Given the description of an element on the screen output the (x, y) to click on. 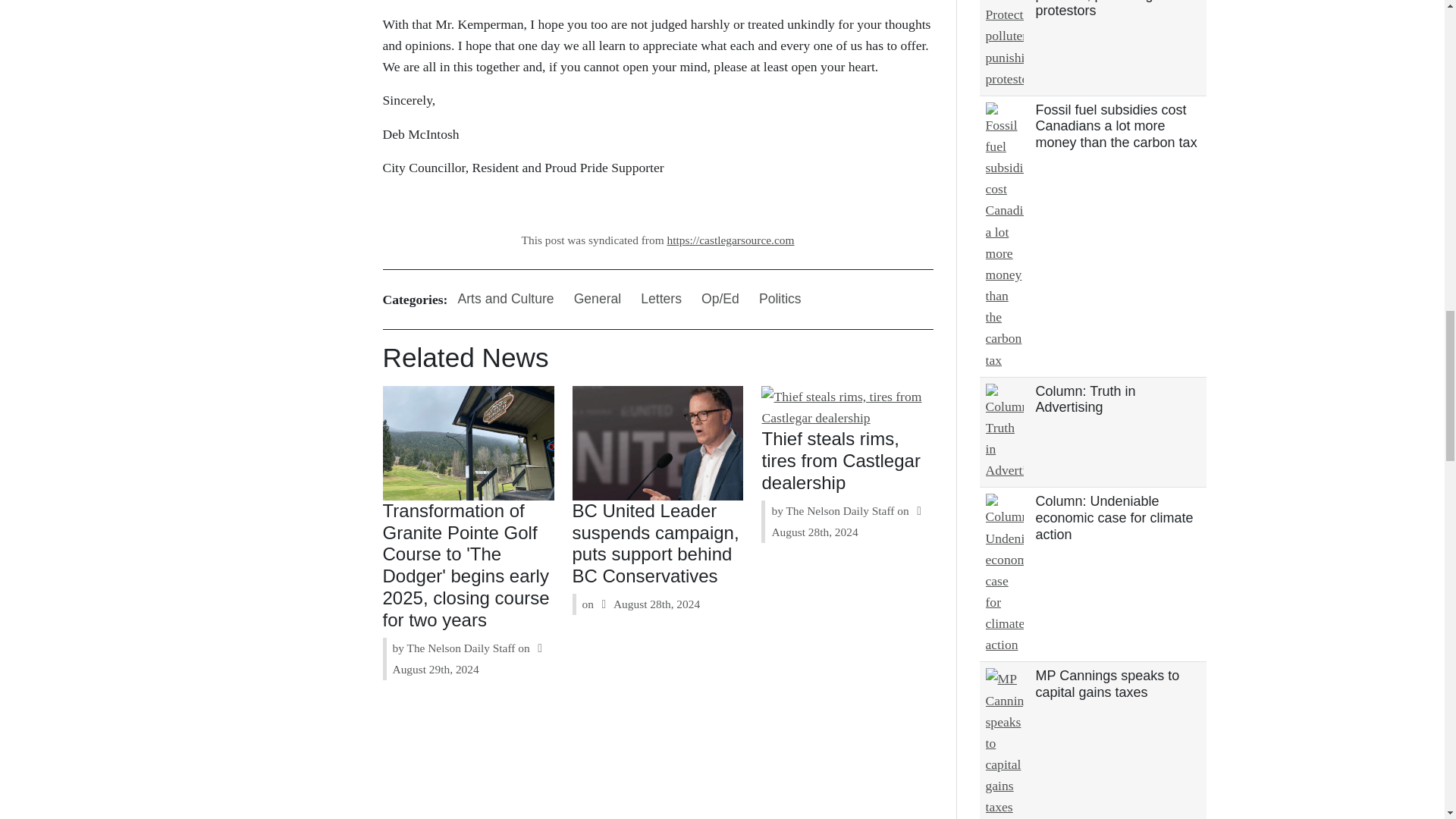
General (597, 298)
Letters (660, 298)
Politics (779, 298)
Arts and Culture (504, 298)
Thief steals rims, tires from Castlegar dealership (840, 460)
